Given the description of an element on the screen output the (x, y) to click on. 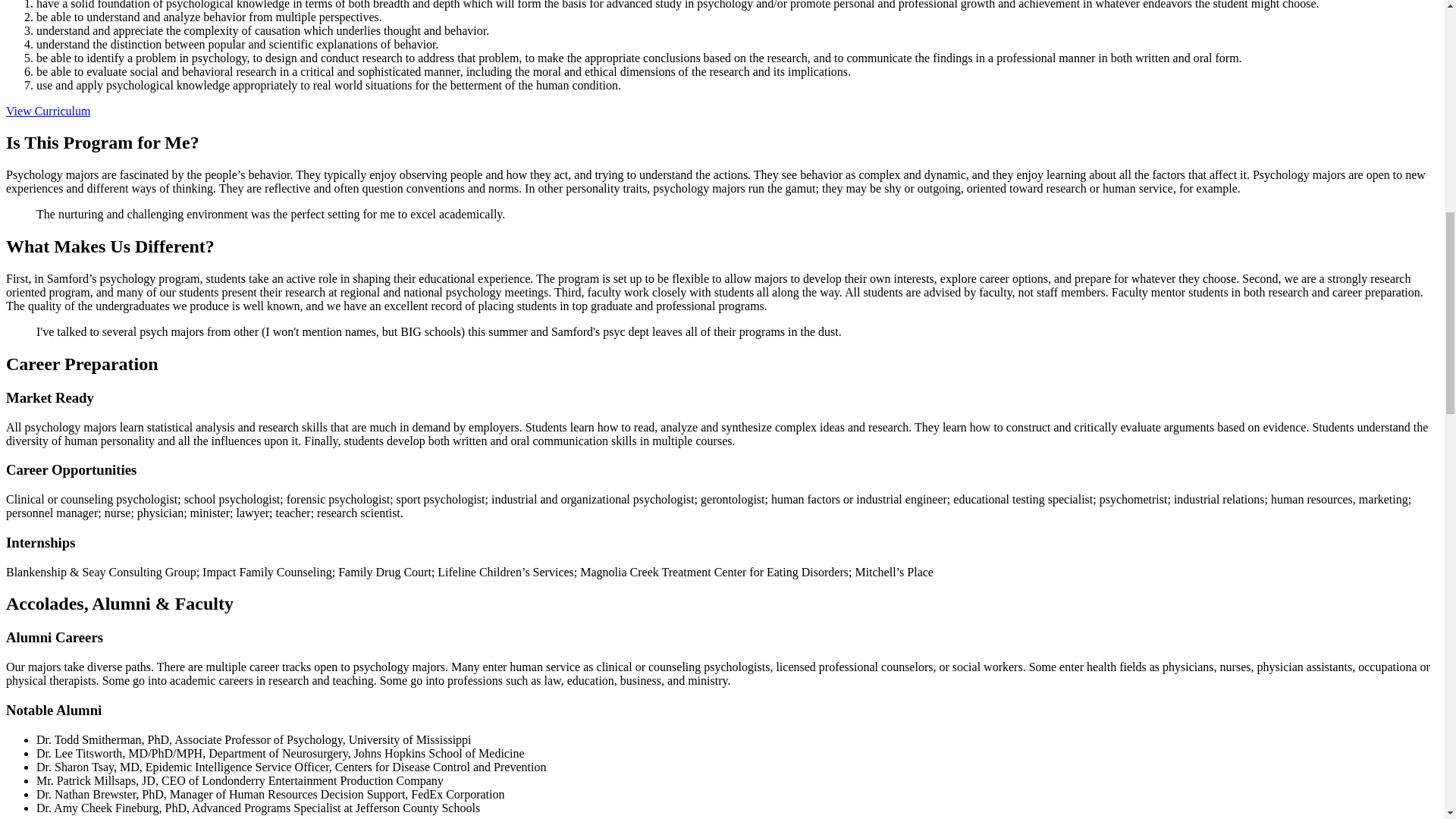
View Curriculum (47, 110)
